Given the description of an element on the screen output the (x, y) to click on. 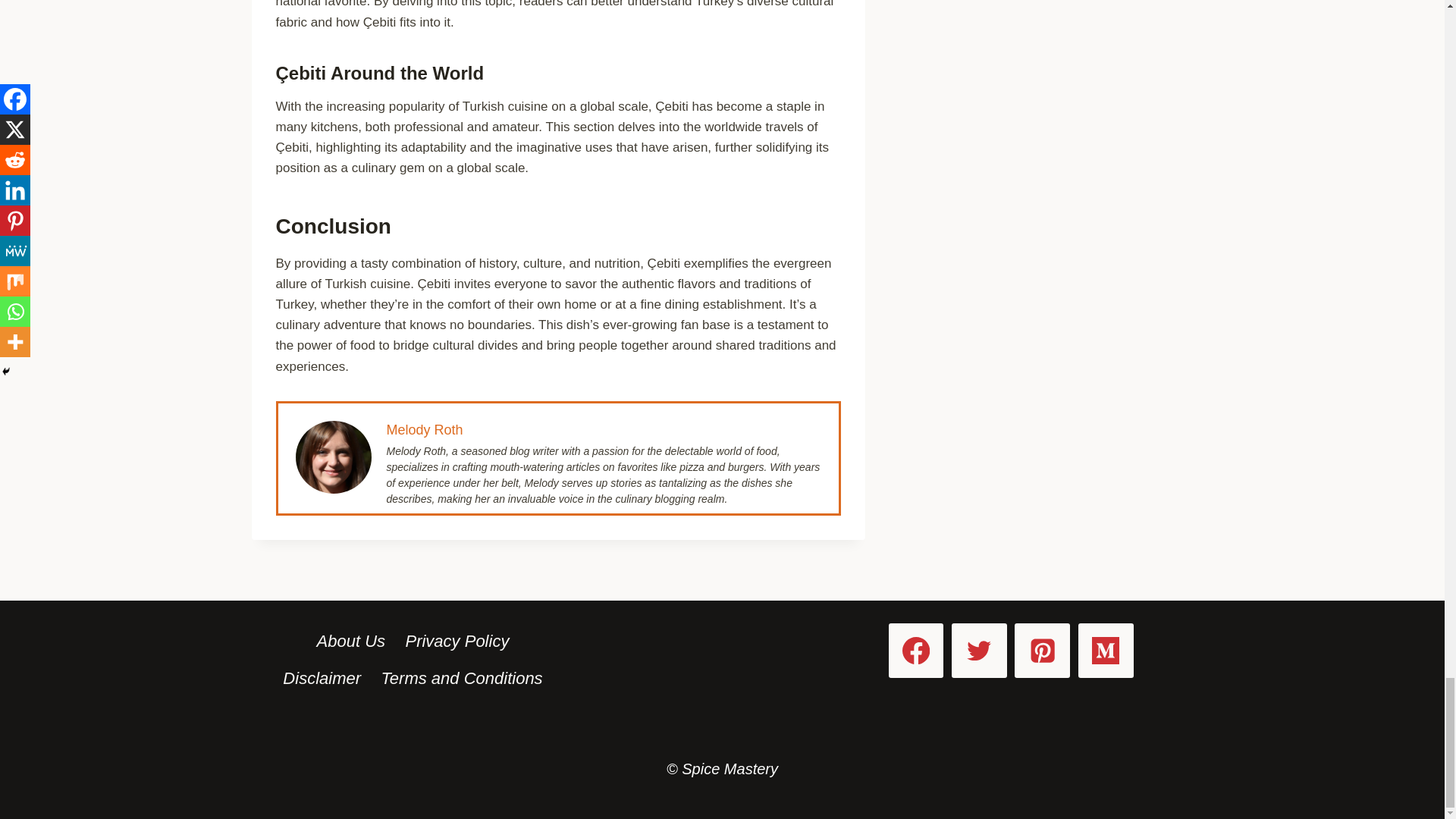
Melody Roth (425, 429)
